Given the description of an element on the screen output the (x, y) to click on. 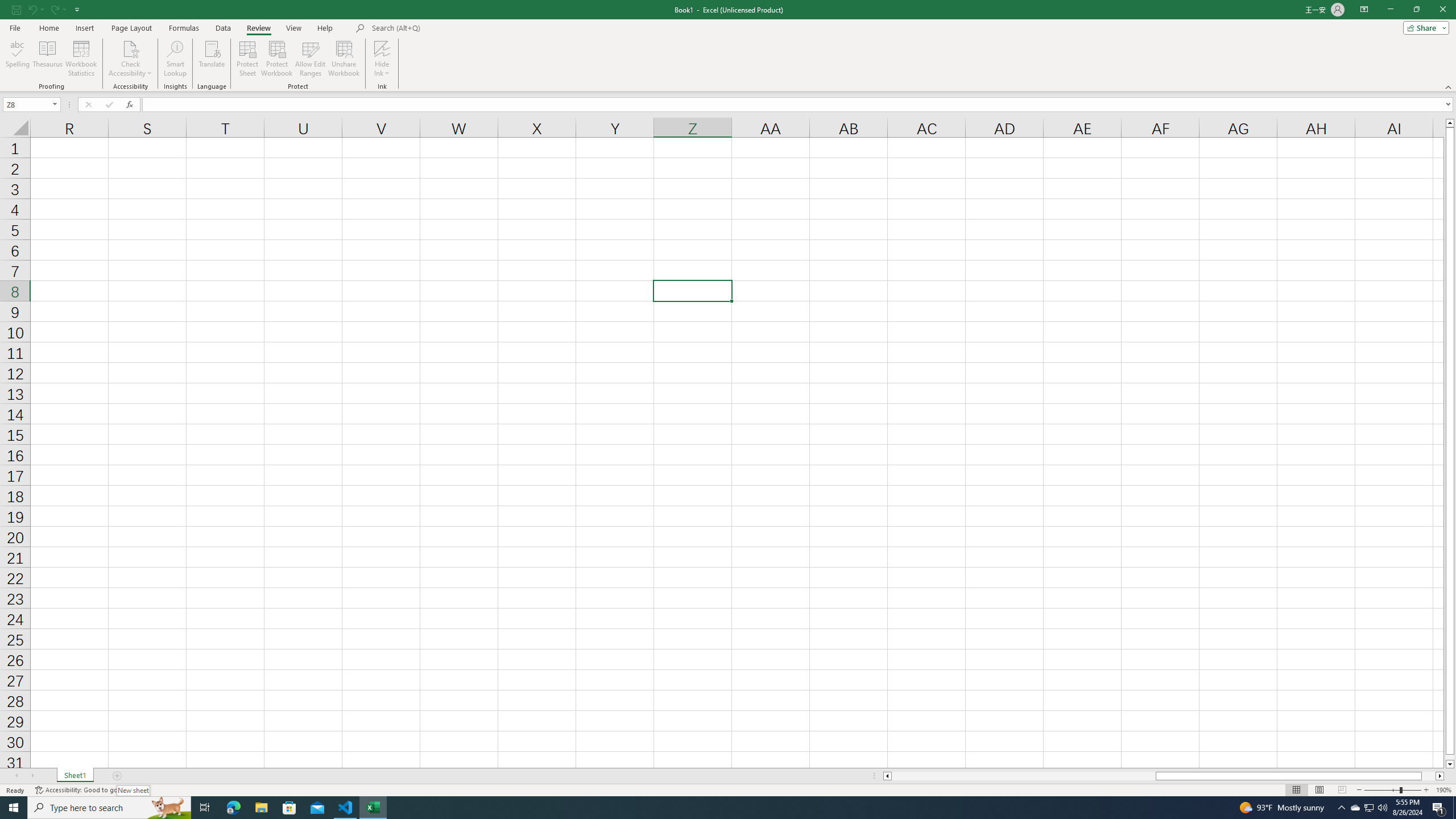
Workbook Statistics (81, 58)
Spelling... (17, 58)
Smart Lookup (175, 58)
Protect Sheet... (247, 58)
